Given the description of an element on the screen output the (x, y) to click on. 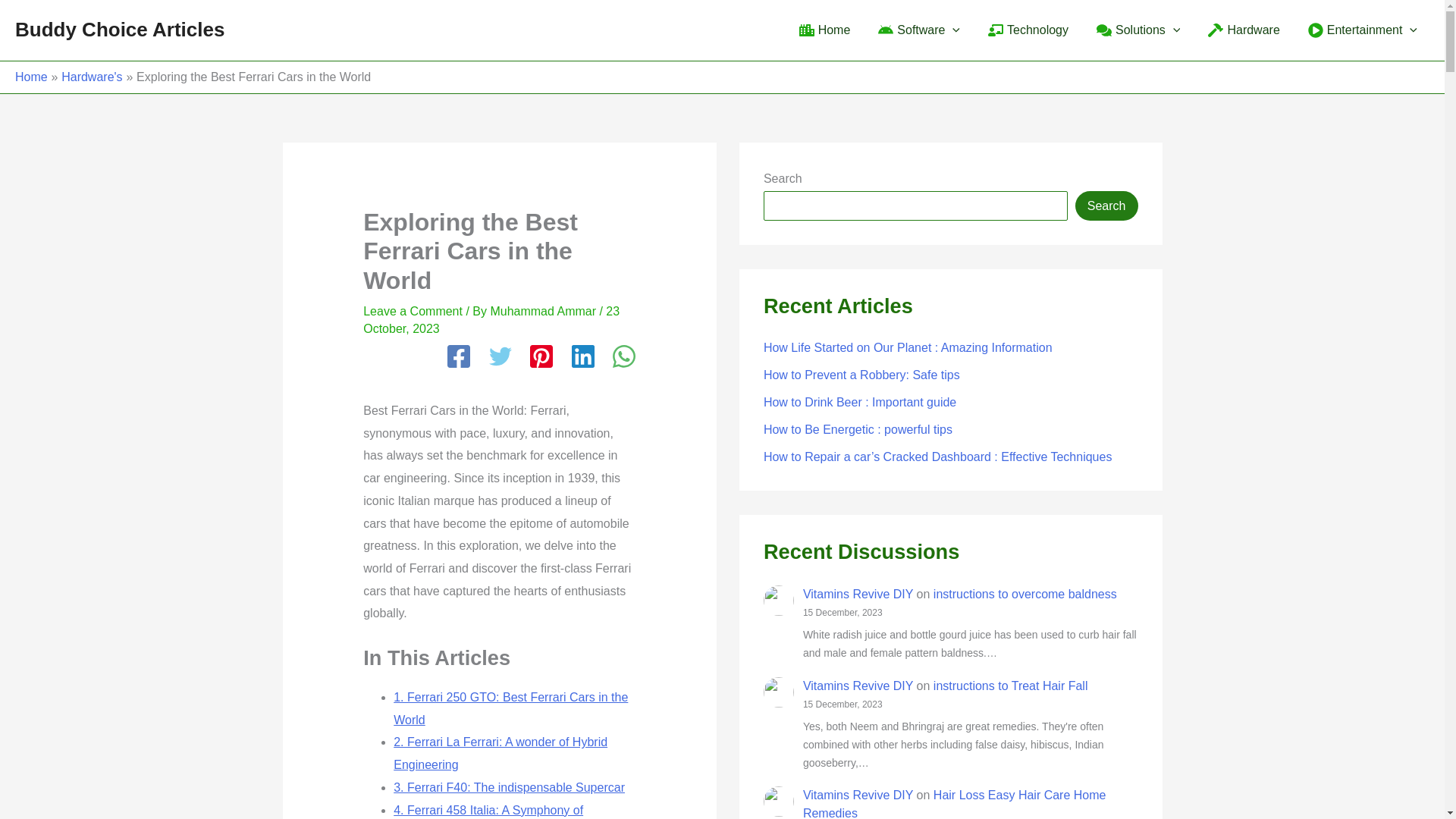
View all posts by Muhammad Ammar (543, 310)
Hardware (1241, 30)
Software (916, 30)
Entertainment (1360, 30)
Buddy Choice Articles (119, 29)
Solutions (1136, 30)
Home (823, 30)
Technology (1026, 30)
